Given the description of an element on the screen output the (x, y) to click on. 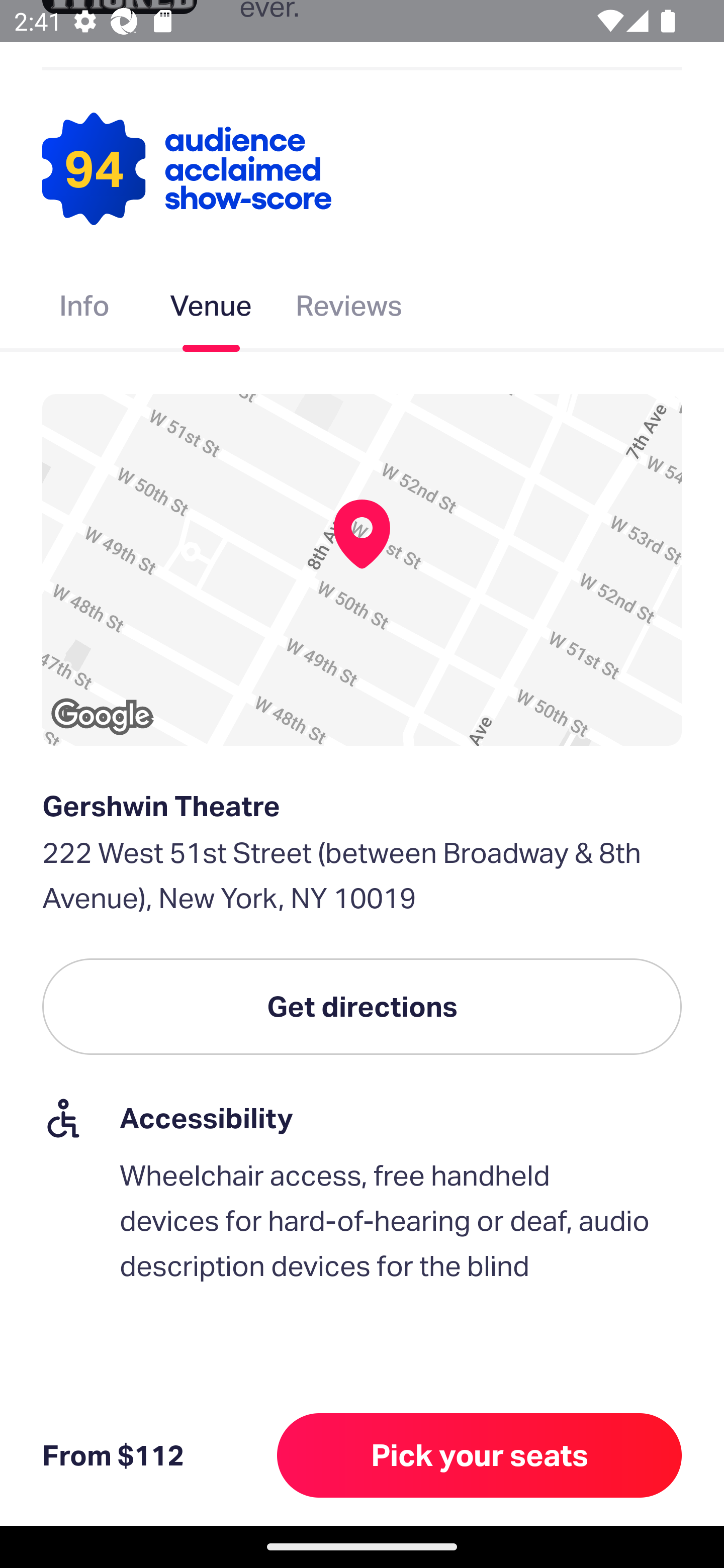
Info (83, 309)
Reviews (348, 309)
Google Map Gershwin Theatre.  (361, 569)
Get directions (361, 1006)
Pick your seats (479, 1454)
